Given the description of an element on the screen output the (x, y) to click on. 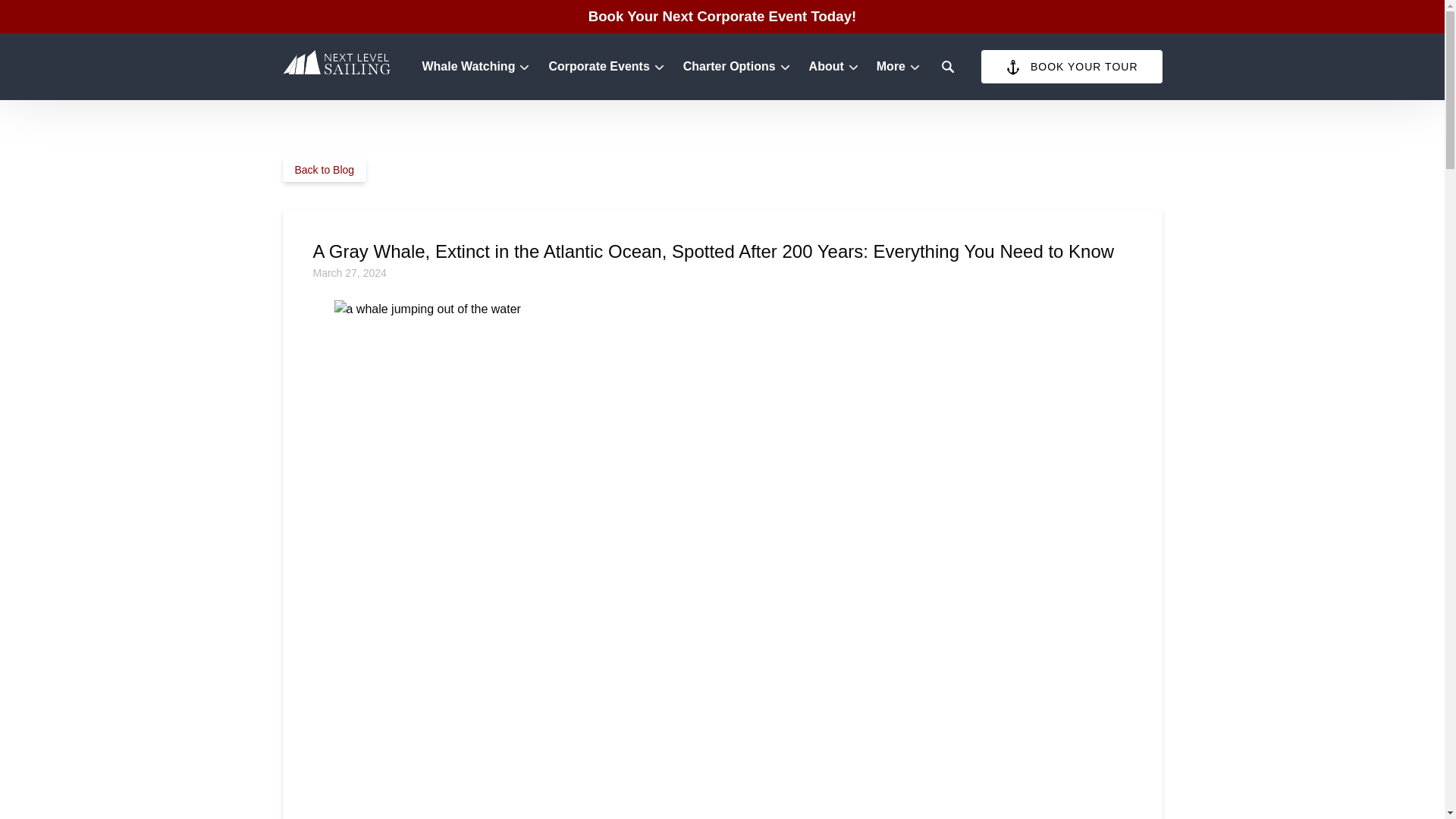
Open Whale Watching Menu (479, 62)
About (833, 66)
ANCHOR (1013, 67)
Skip to footer (42, 16)
Charter Options (736, 66)
Open Corporate Events Menu (609, 62)
Skip to primary navigation (77, 16)
Whale Watching (475, 66)
Corporate Events (605, 66)
Skip to content (47, 16)
Open About Menu (837, 62)
Open Charter Options Menu (740, 62)
